Given the description of an element on the screen output the (x, y) to click on. 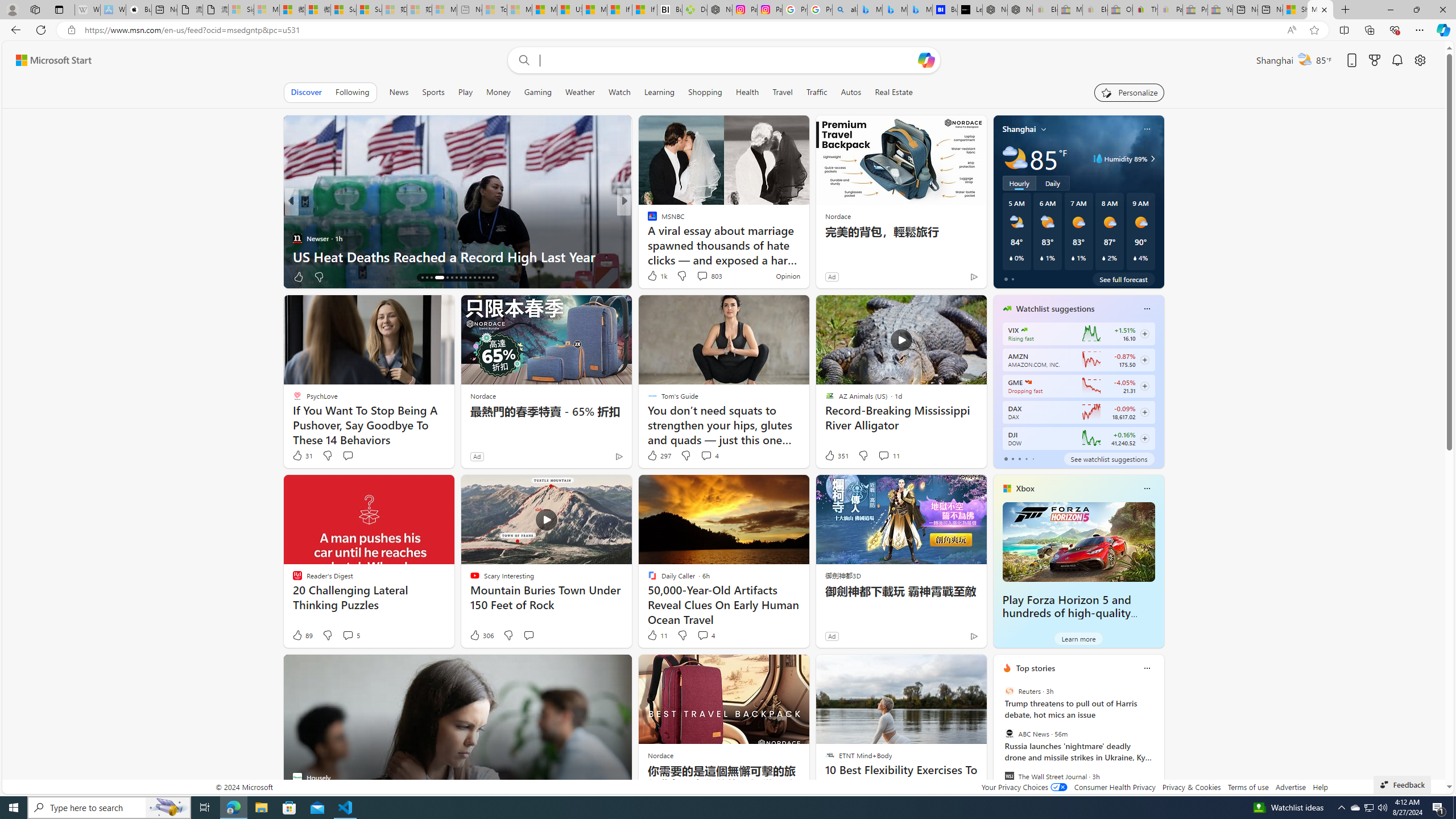
Sign in to your Microsoft account - Sleeping (241, 9)
AutomationID: tab-26 (474, 277)
Shanghai, China hourly forecast | Microsoft Weather (1295, 9)
8 Like (651, 276)
Class: weather-current-precipitation-glyph (1134, 257)
My location (1043, 128)
